Given the description of an element on the screen output the (x, y) to click on. 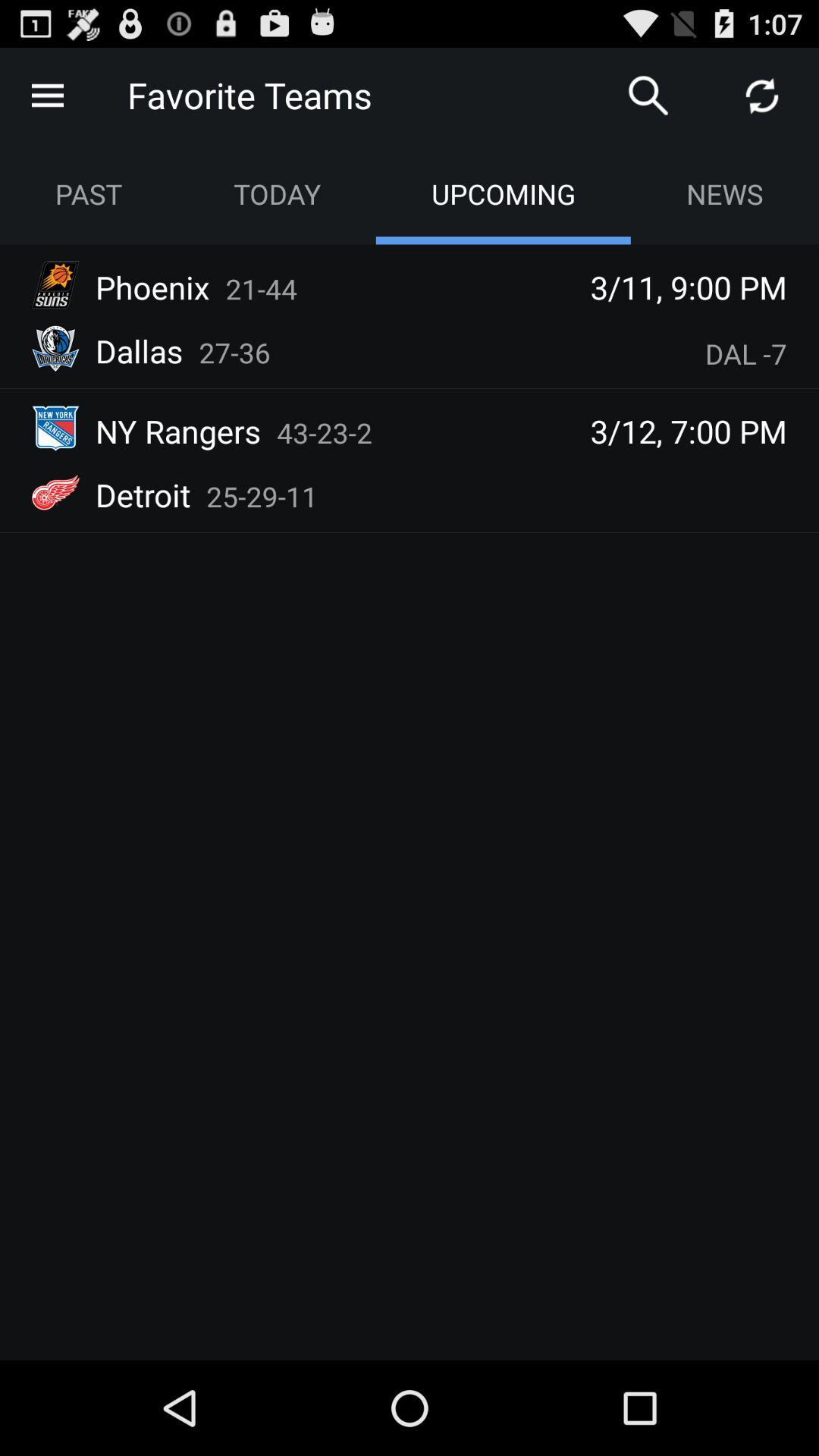
the icon gives more option and menus (47, 95)
